Given the description of an element on the screen output the (x, y) to click on. 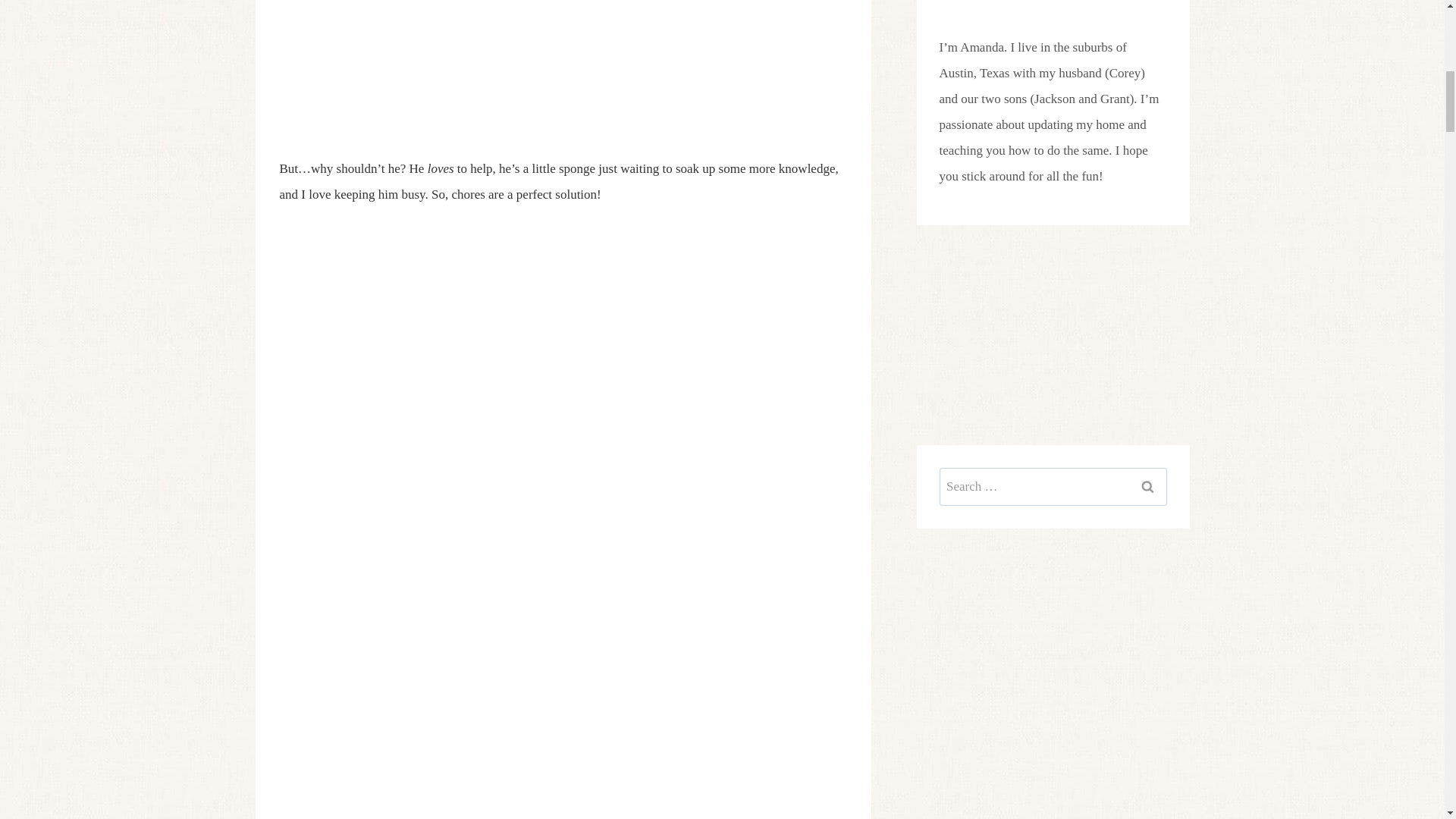
Search (1147, 486)
Search (1147, 486)
